Given the description of an element on the screen output the (x, y) to click on. 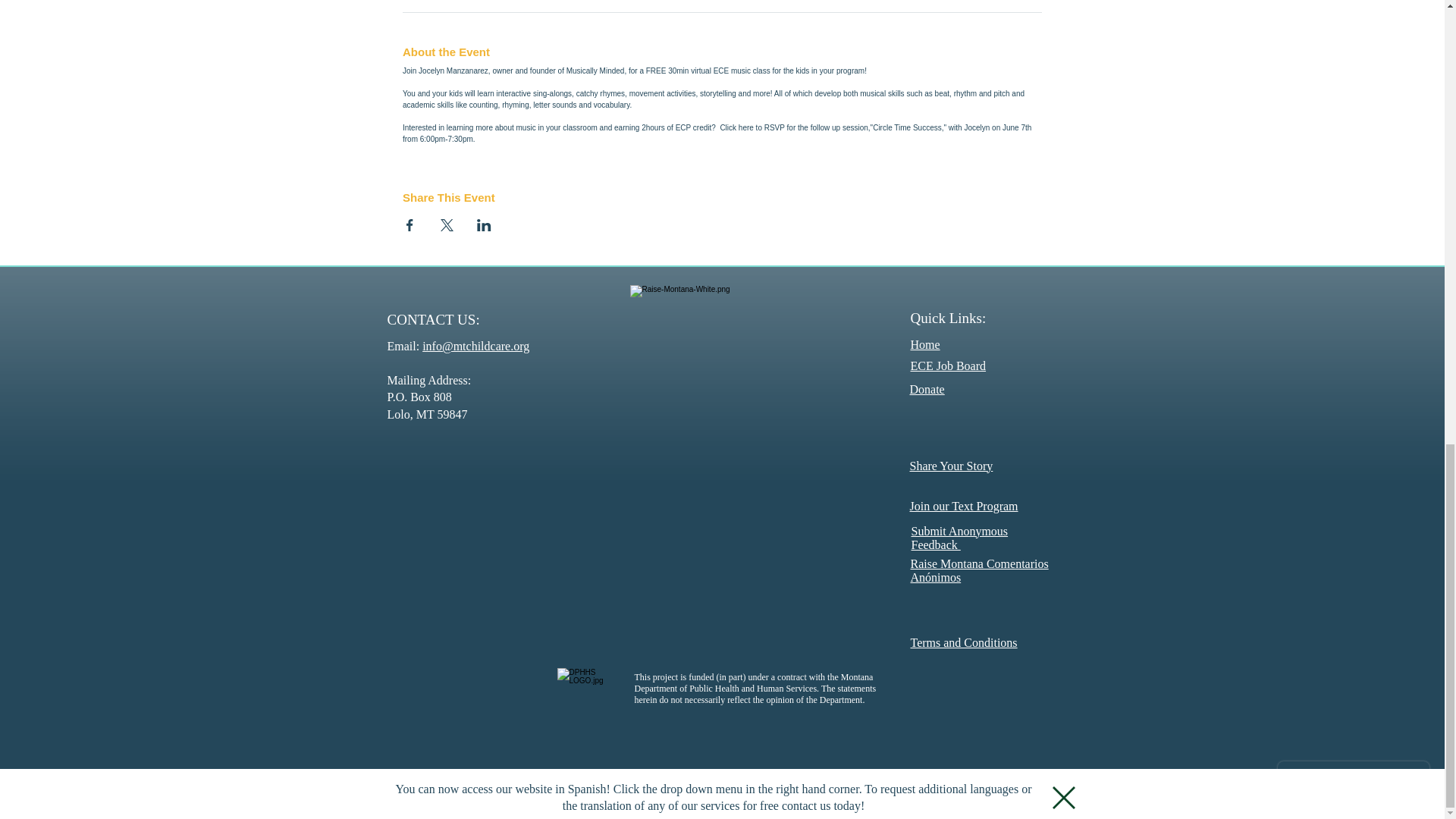
Home (924, 344)
ECE Job Board (947, 365)
Donate (927, 389)
Share Your Story (951, 465)
